Given the description of an element on the screen output the (x, y) to click on. 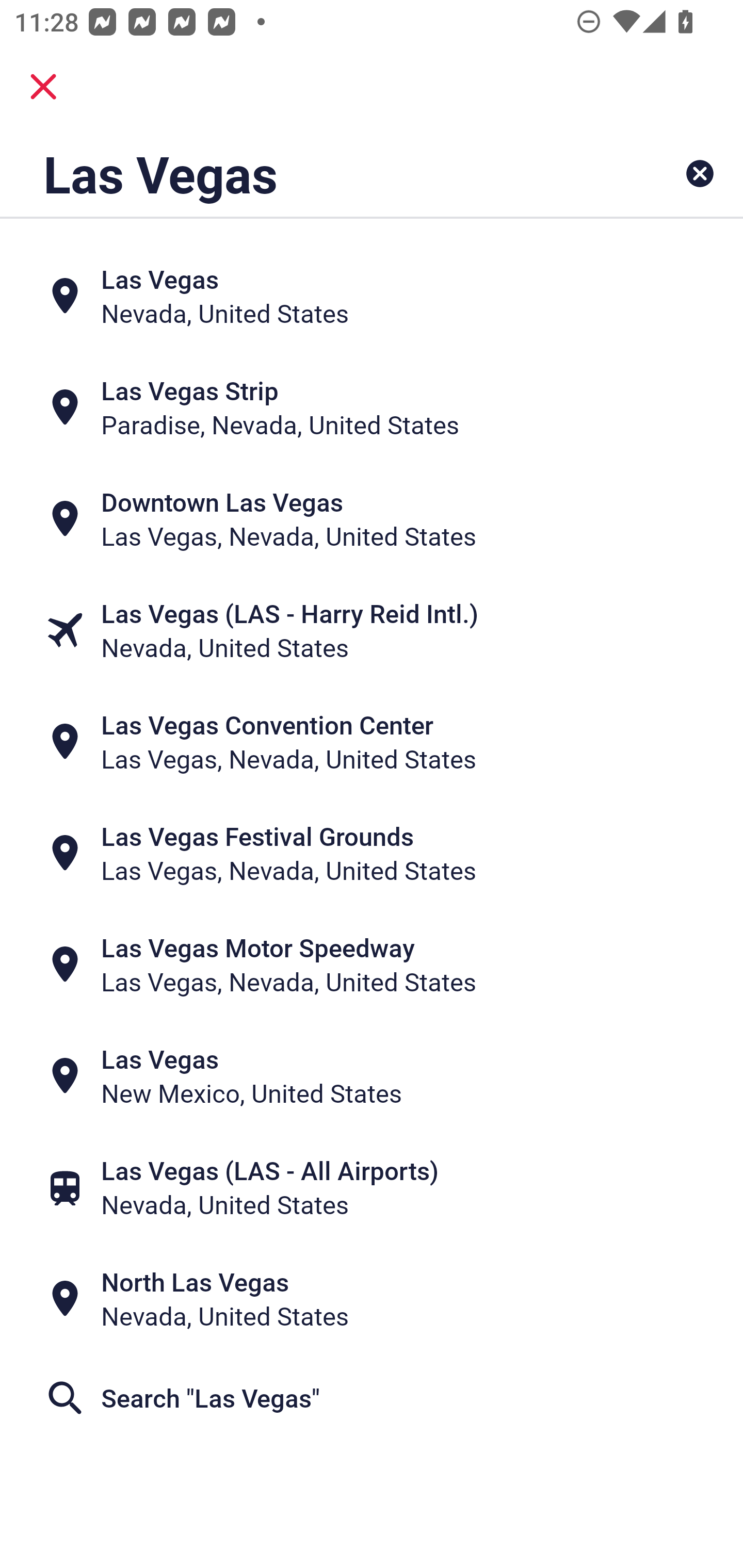
close. (43, 86)
Clear (699, 173)
Las Vegas (306, 173)
Las Vegas Nevada, United States (371, 295)
Las Vegas Strip Paradise, Nevada, United States (371, 406)
Las Vegas New Mexico, United States (371, 1076)
North Las Vegas Nevada, United States (371, 1298)
Search "Las Vegas" (371, 1397)
